Given the description of an element on the screen output the (x, y) to click on. 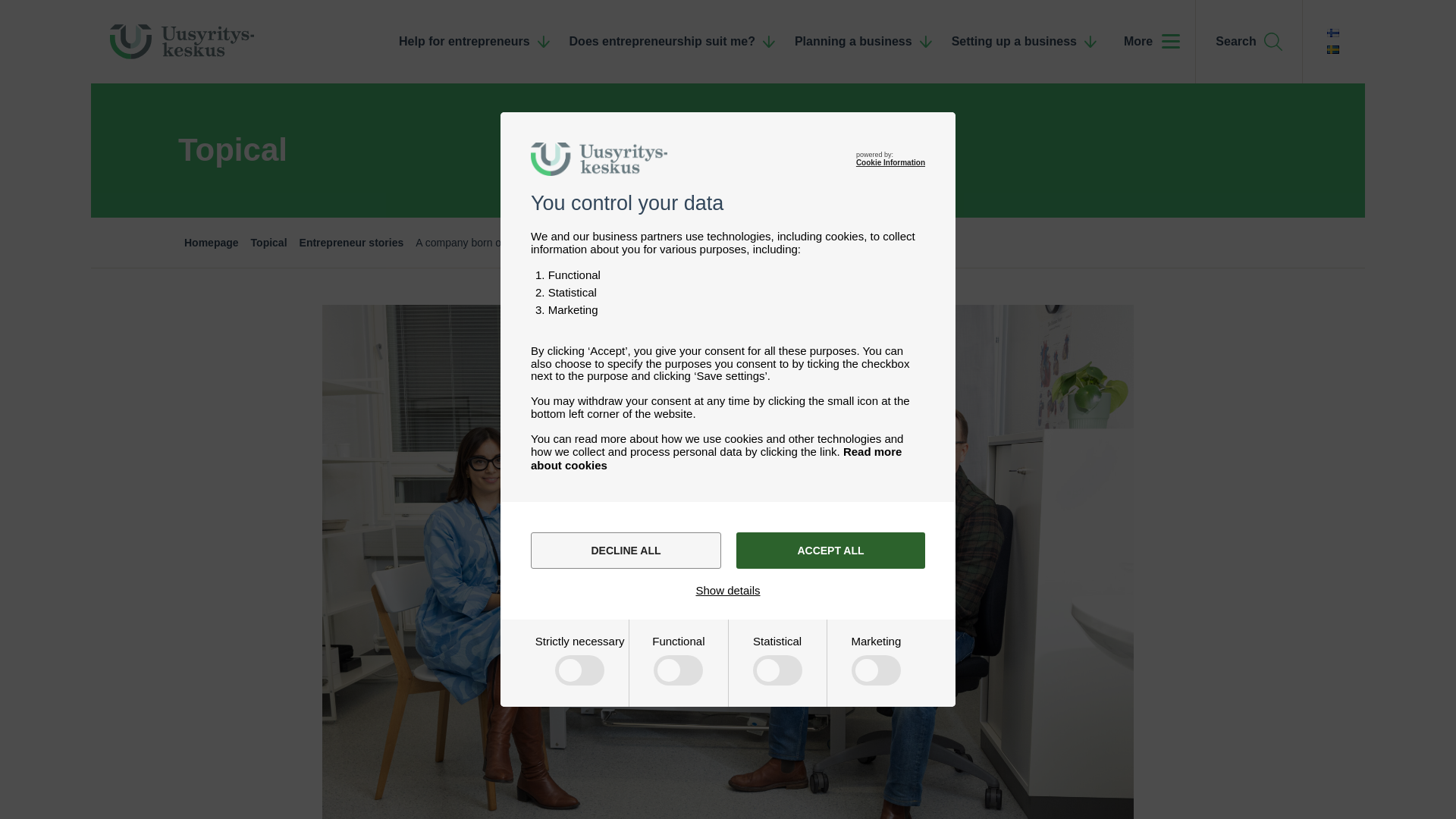
ACCEPT ALL (830, 550)
Read more about cookies (716, 458)
Cookie Information (890, 162)
DECLINE ALL (625, 550)
Show details (727, 590)
